Given the description of an element on the screen output the (x, y) to click on. 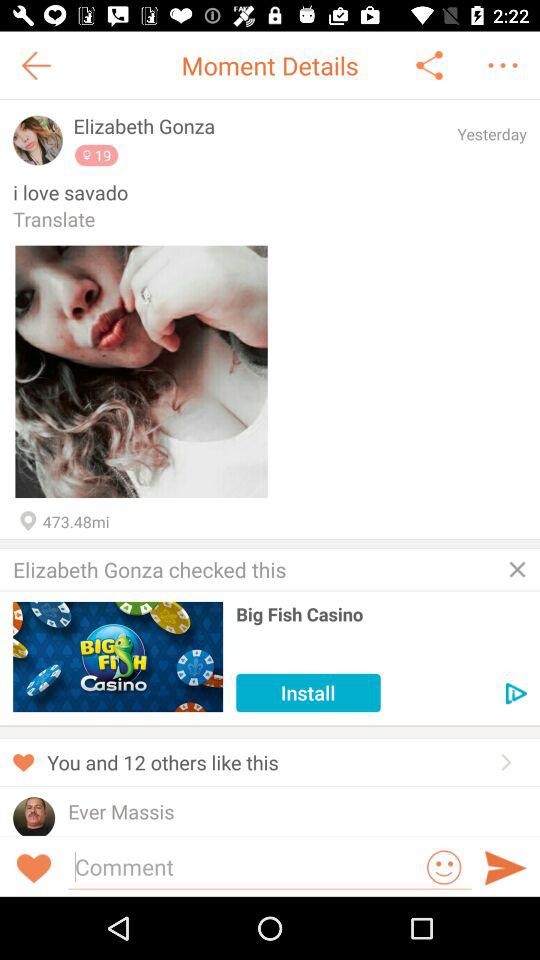
click to favorite (141, 371)
